Given the description of an element on the screen output the (x, y) to click on. 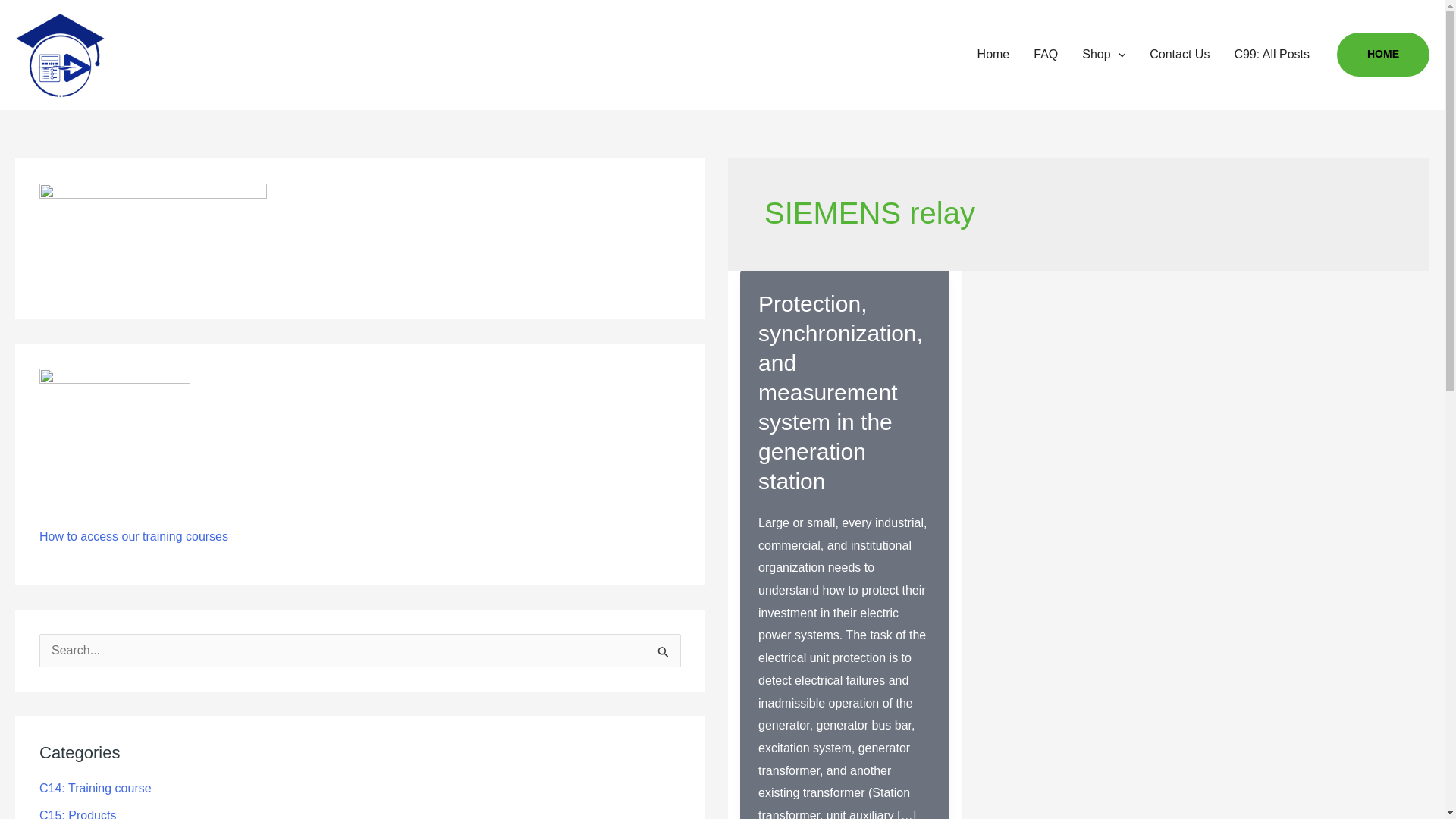
C15: Products (77, 814)
FAQ (1046, 54)
C99: All Posts (1271, 54)
HOME (1382, 54)
How to access our training courses (133, 535)
Shop (1103, 54)
Home (993, 54)
C14: Training course (95, 788)
Contact Us (1179, 54)
